Given the description of an element on the screen output the (x, y) to click on. 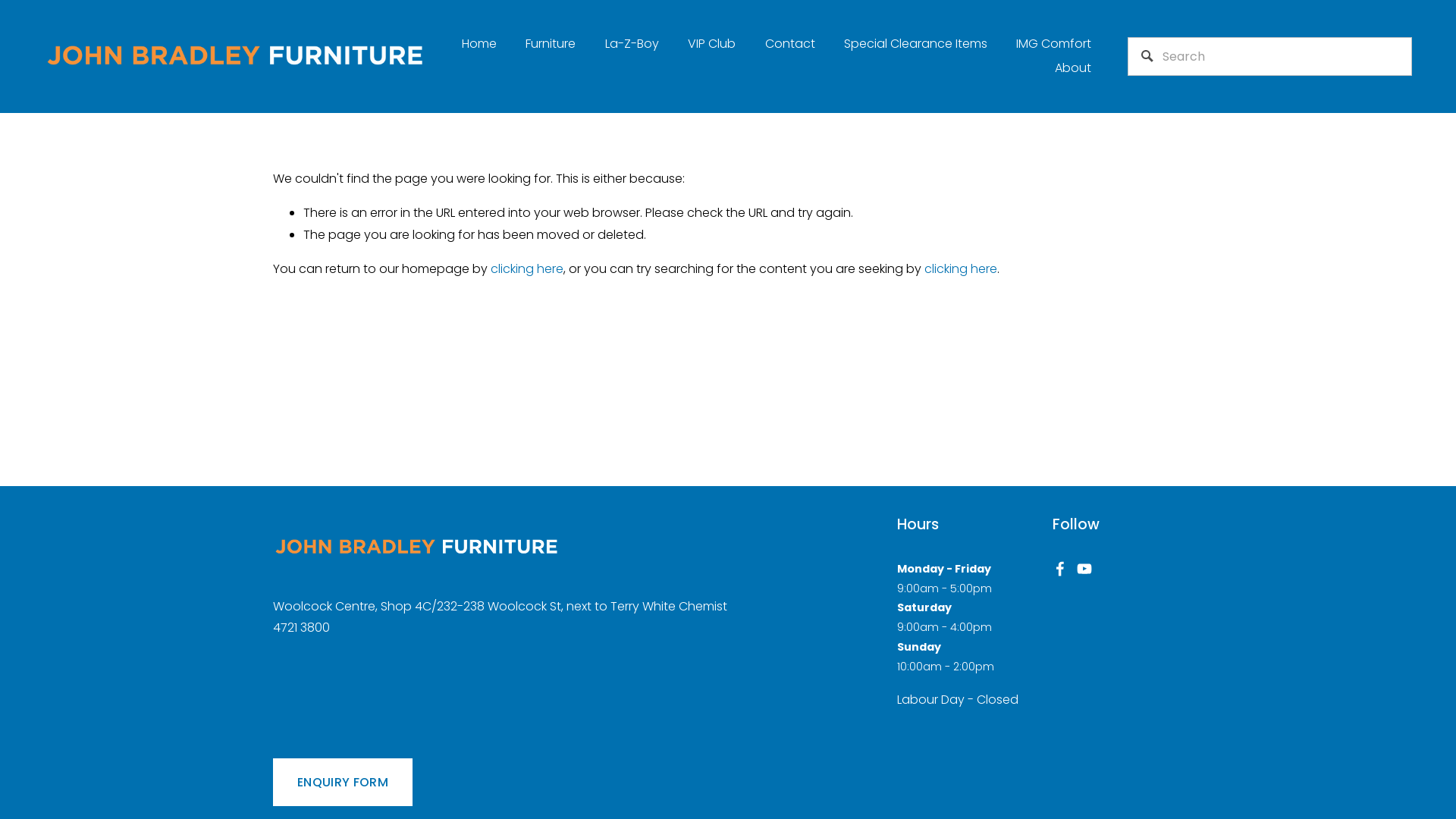
clicking here Element type: text (960, 268)
clicking here Element type: text (526, 268)
Home Element type: text (478, 43)
About Element type: text (1072, 68)
ENQUIRY FORM Element type: text (342, 782)
La-Z-Boy Element type: text (631, 43)
Furniture Element type: text (550, 43)
Special Clearance Items Element type: text (915, 43)
IMG Comfort Element type: text (1053, 43)
VIP Club Element type: text (711, 43)
Contact Element type: text (790, 43)
